Given the description of an element on the screen output the (x, y) to click on. 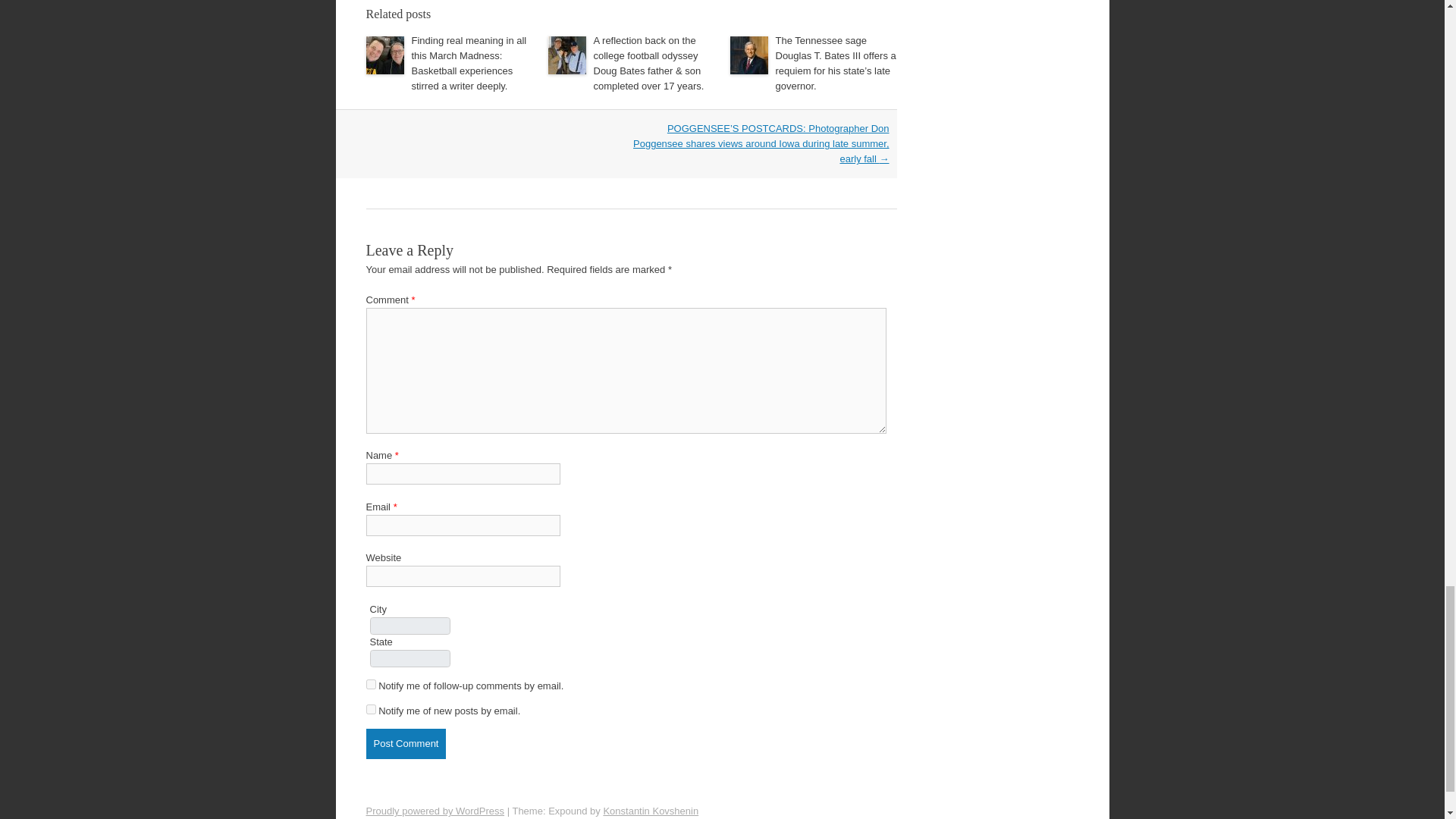
Post Comment (405, 743)
subscribe (370, 684)
Post Comment (405, 743)
Konstantin Kovshenin (650, 810)
Proudly powered by WordPress (434, 810)
subscribe (370, 709)
